Given the description of an element on the screen output the (x, y) to click on. 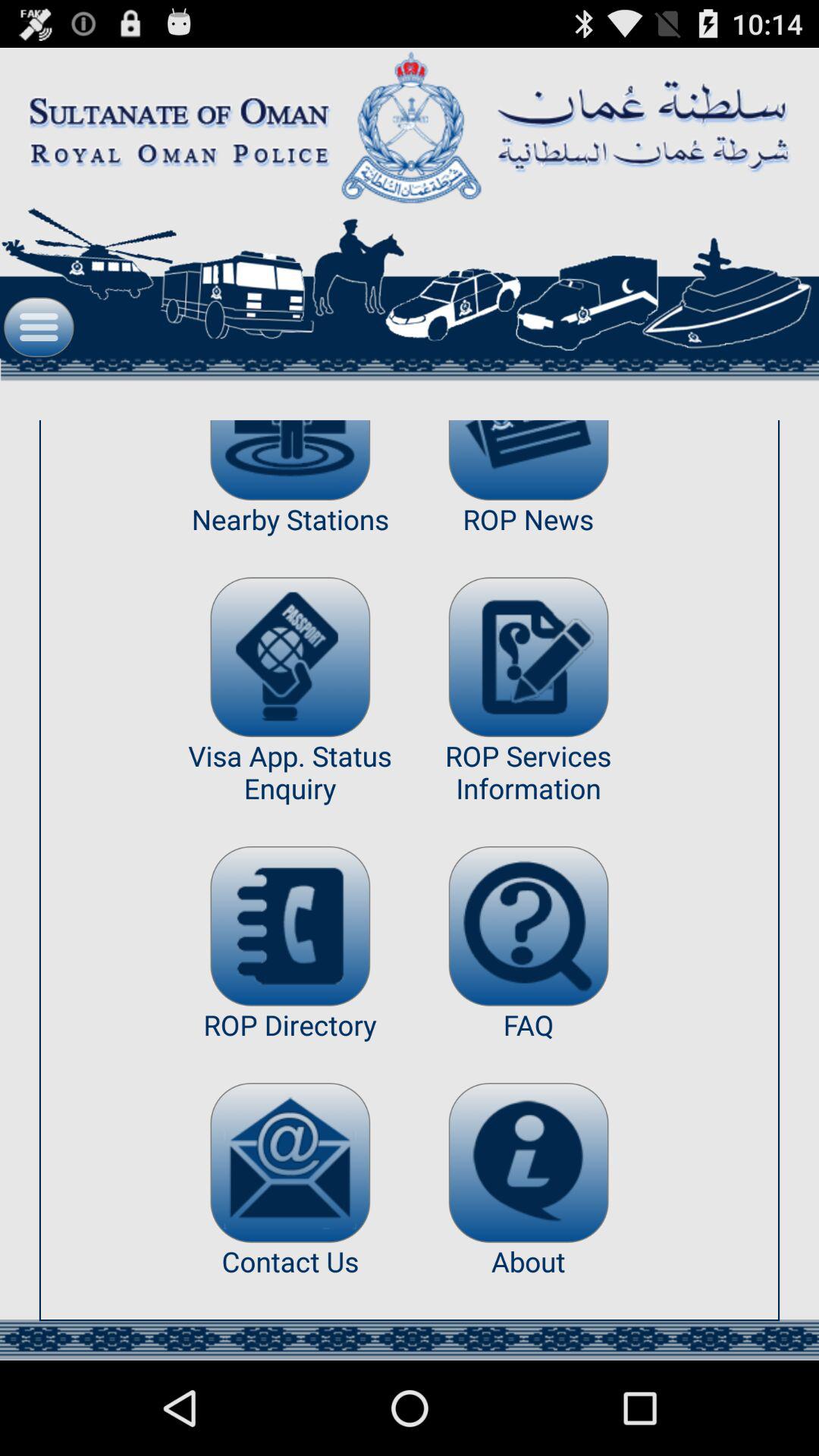
open manual or data (528, 926)
